Given the description of an element on the screen output the (x, y) to click on. 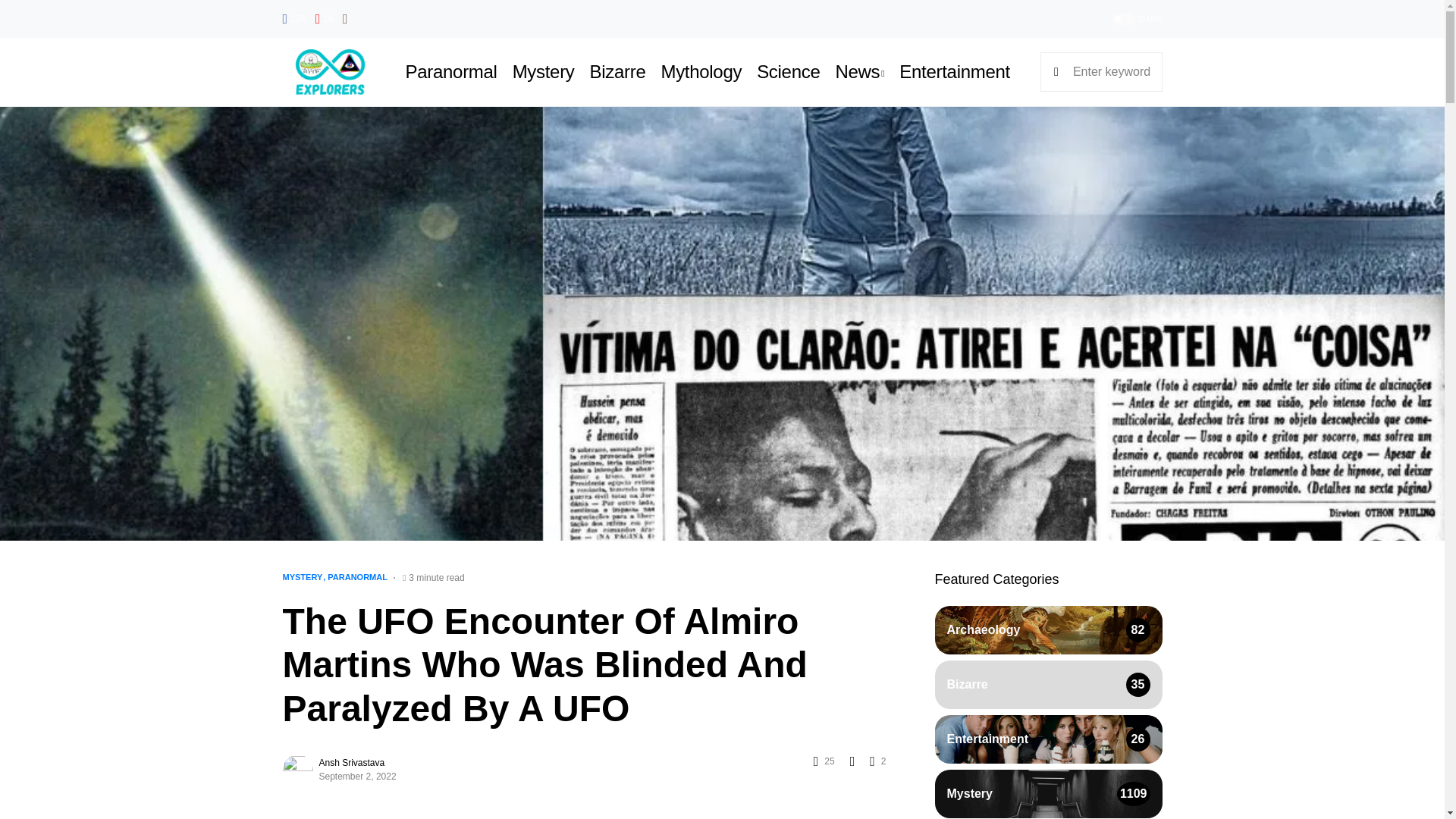
1K (324, 18)
Mythology (701, 71)
Science (788, 71)
Entertainment (954, 71)
Mystery (543, 71)
Paranormal (451, 71)
10K (293, 18)
